Given the description of an element on the screen output the (x, y) to click on. 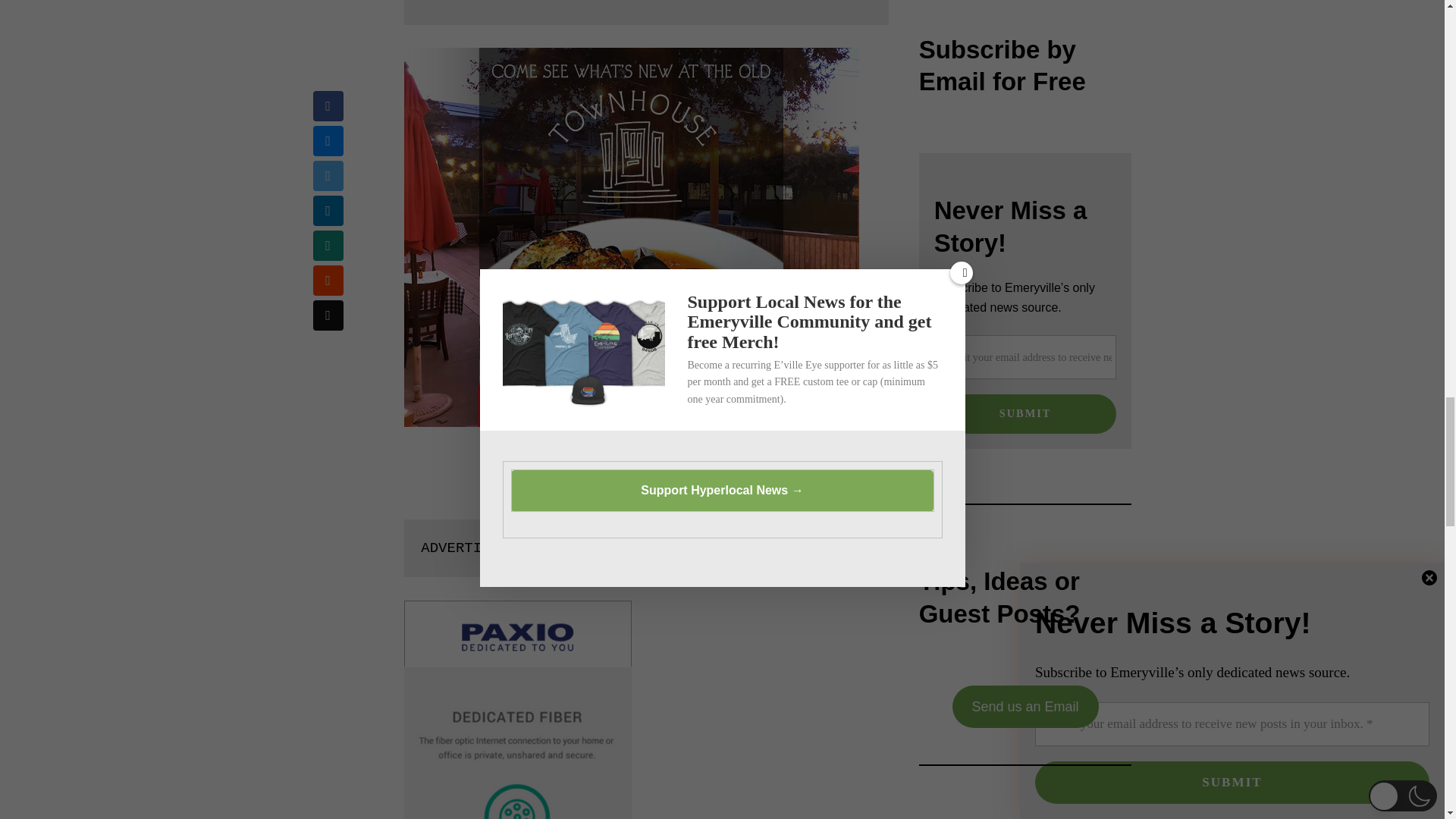
Submit (1025, 413)
